Given the description of an element on the screen output the (x, y) to click on. 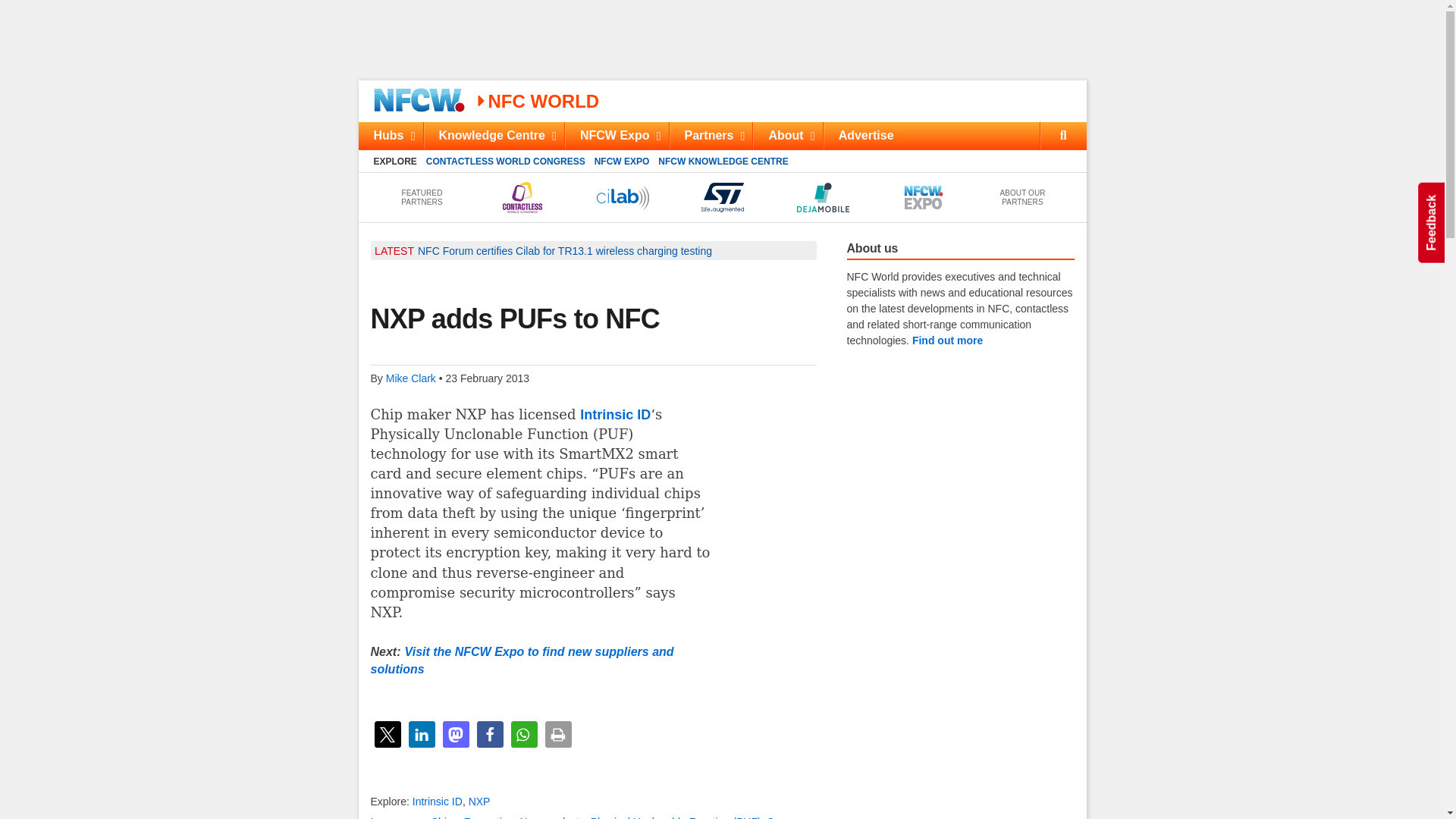
23 February 2013, 13:30 GMT (487, 378)
STMicroelectronics (721, 197)
NFCW Expo (921, 197)
Share on Mastodon (455, 734)
Cilab (621, 197)
Share on LinkedIn (420, 734)
Partners (710, 135)
NFC WORLD (537, 100)
25 May 2022, 13:40 BST (564, 250)
NFCW Expo (616, 135)
